Given the description of an element on the screen output the (x, y) to click on. 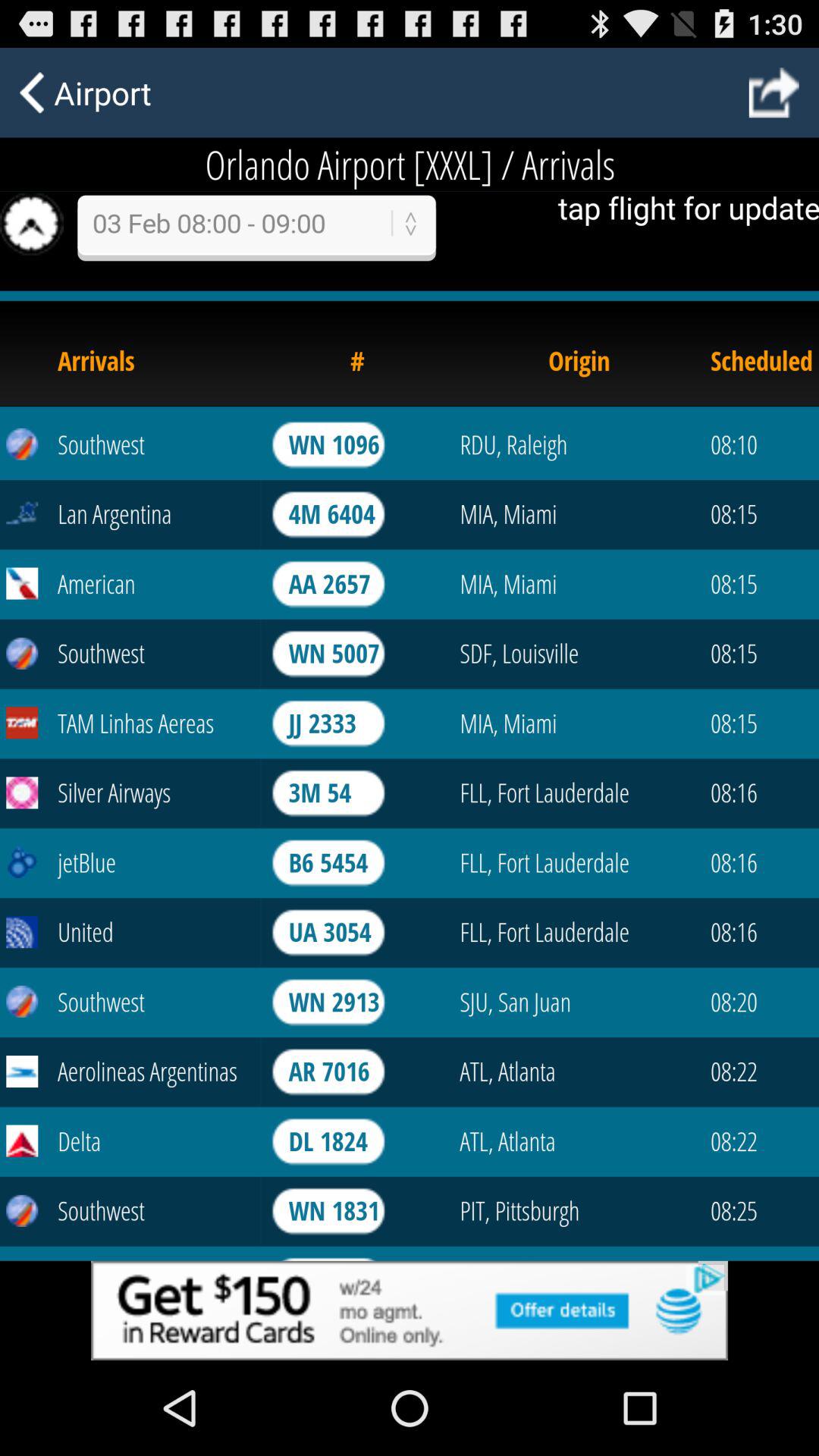
go back (774, 92)
